Given the description of an element on the screen output the (x, y) to click on. 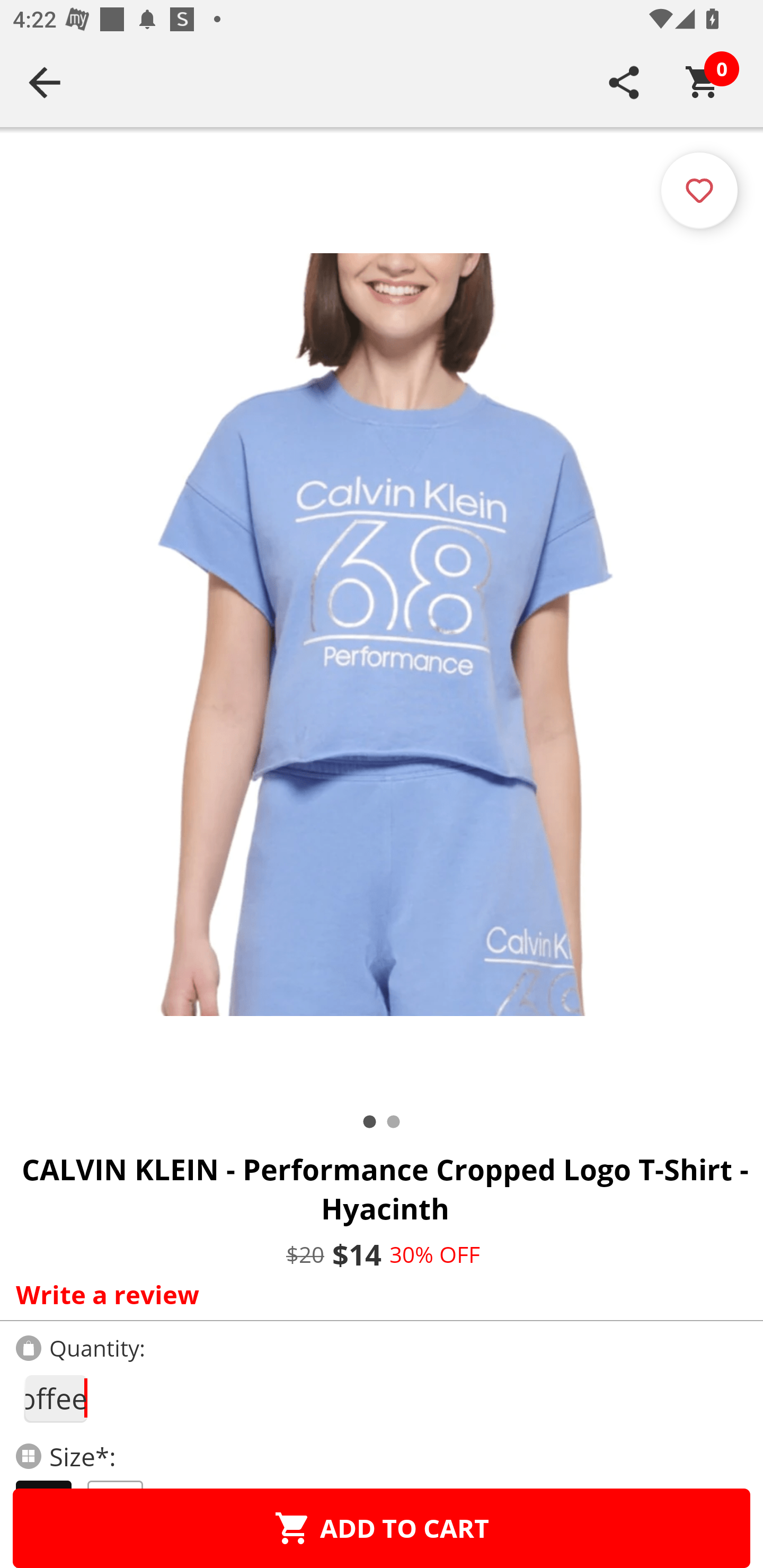
Navigate up (44, 82)
SHARE (623, 82)
Cart (703, 81)
Write a review (377, 1294)
1coffee (55, 1398)
ADD TO CART (381, 1528)
